Given the description of an element on the screen output the (x, y) to click on. 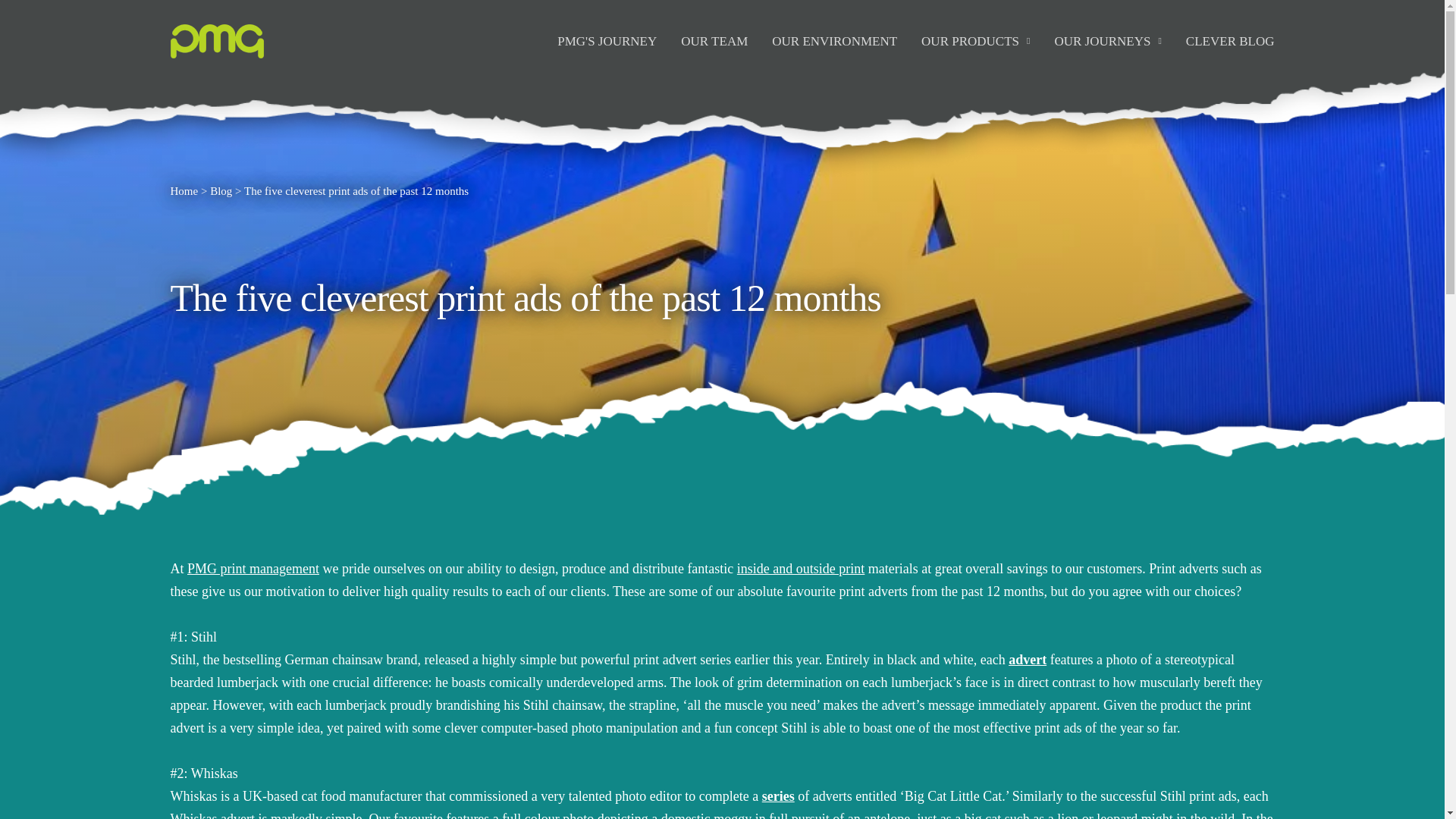
advert (1027, 659)
Home (184, 191)
Blog (220, 191)
OUR TEAM (714, 41)
inside and outside print (800, 568)
series (777, 795)
OUR ENVIRONMENT (833, 41)
OUR JOURNEYS (1107, 41)
OUR PRODUCTS (975, 41)
CLEVER BLOG (1230, 41)
PMG'S JOURNEY (606, 41)
PMG print management (252, 568)
